Given the description of an element on the screen output the (x, y) to click on. 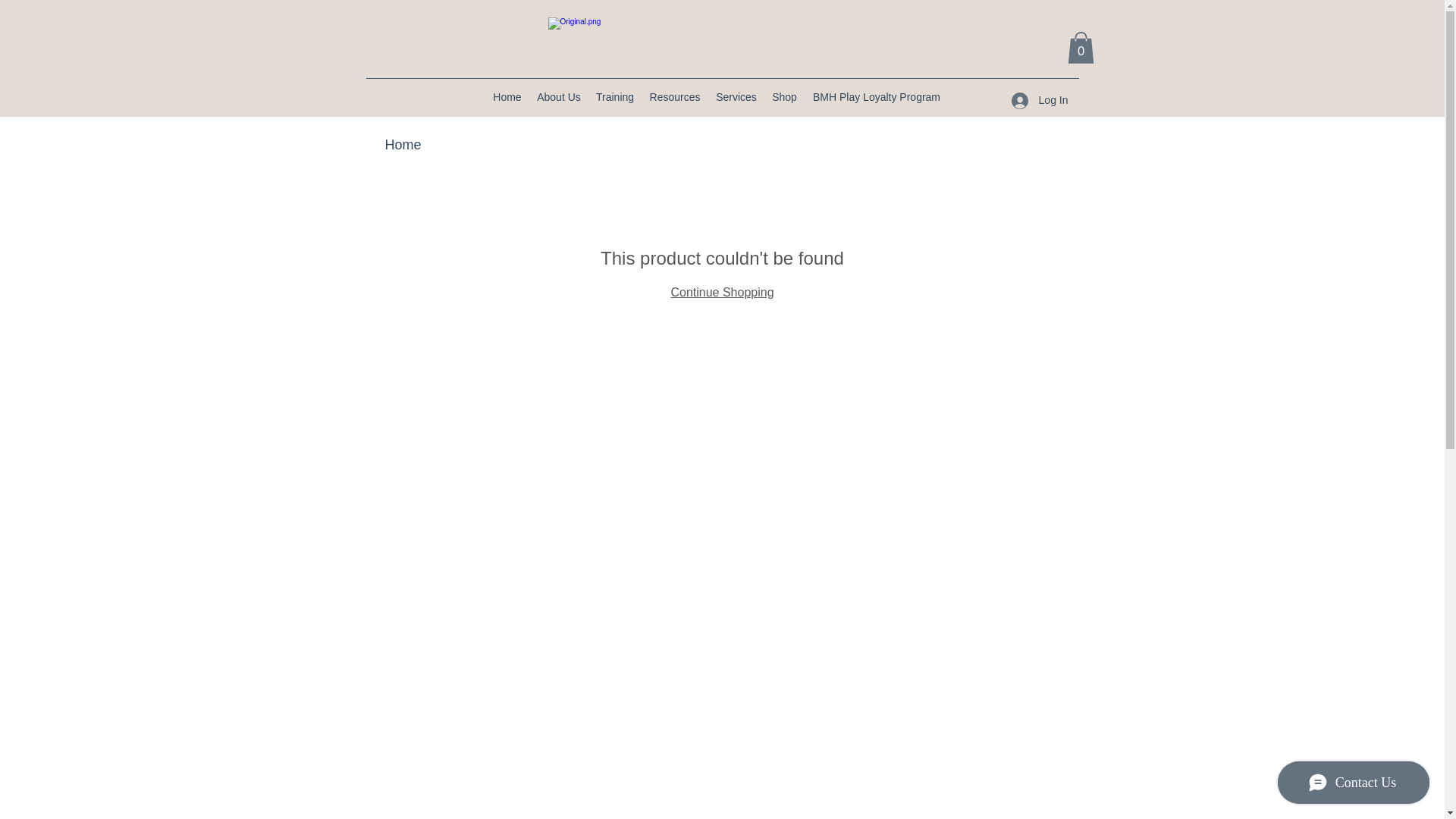
Log In (1039, 100)
Home (403, 144)
Shop (784, 96)
Training (615, 96)
Home (506, 96)
Continue Shopping (721, 291)
BMH Play Loyalty Program (877, 96)
